Given the description of an element on the screen output the (x, y) to click on. 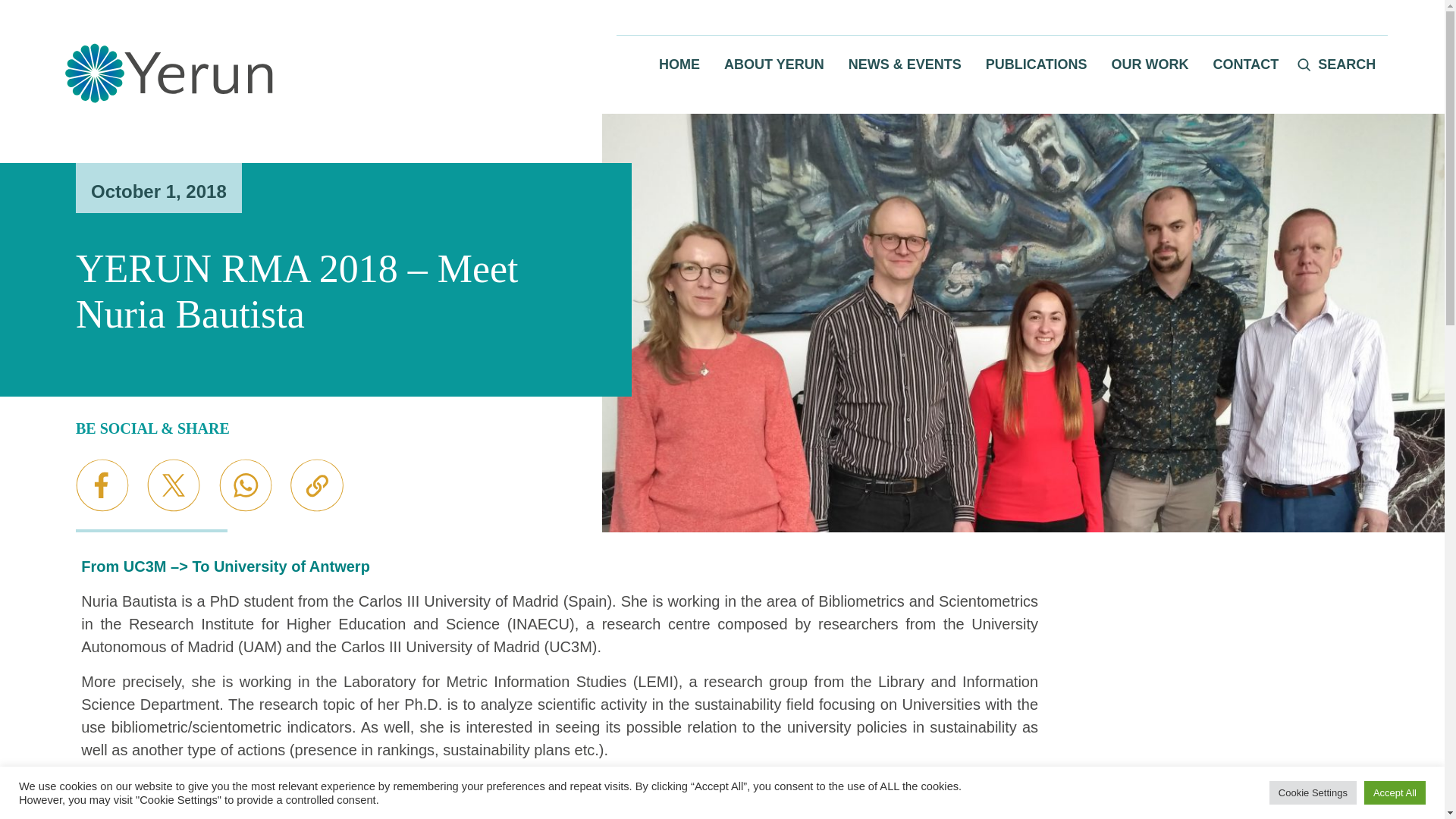
OUR WORK (1149, 65)
SEARCH (1339, 65)
PUBLICATIONS (1036, 65)
CONTACT (1246, 65)
Page 1 (559, 606)
HOME (678, 65)
ABOUT YERUN (773, 65)
